Given the description of an element on the screen output the (x, y) to click on. 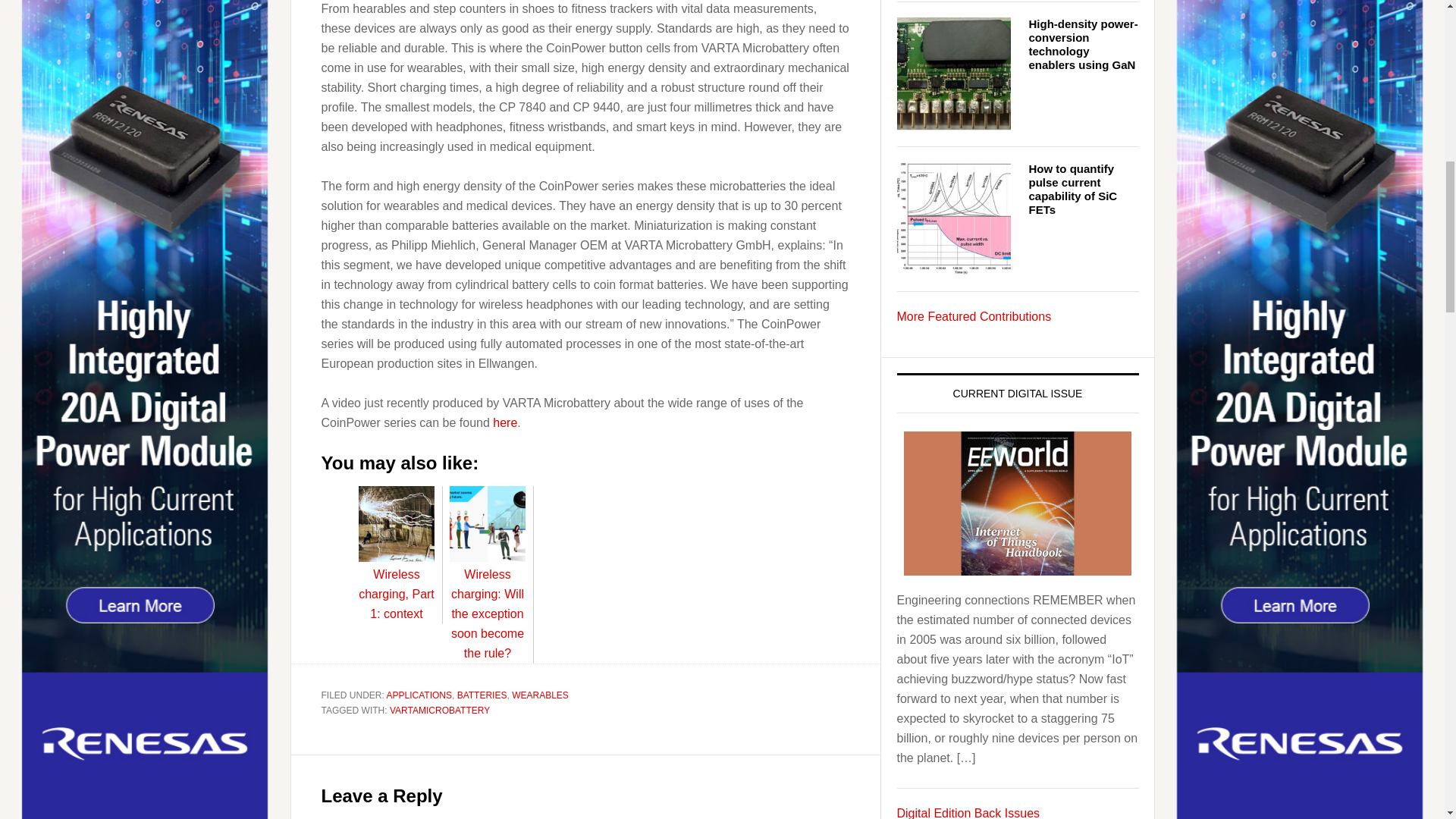
Featured Contributions (973, 316)
Digital Edition Back Issue (967, 812)
